Given the description of an element on the screen output the (x, y) to click on. 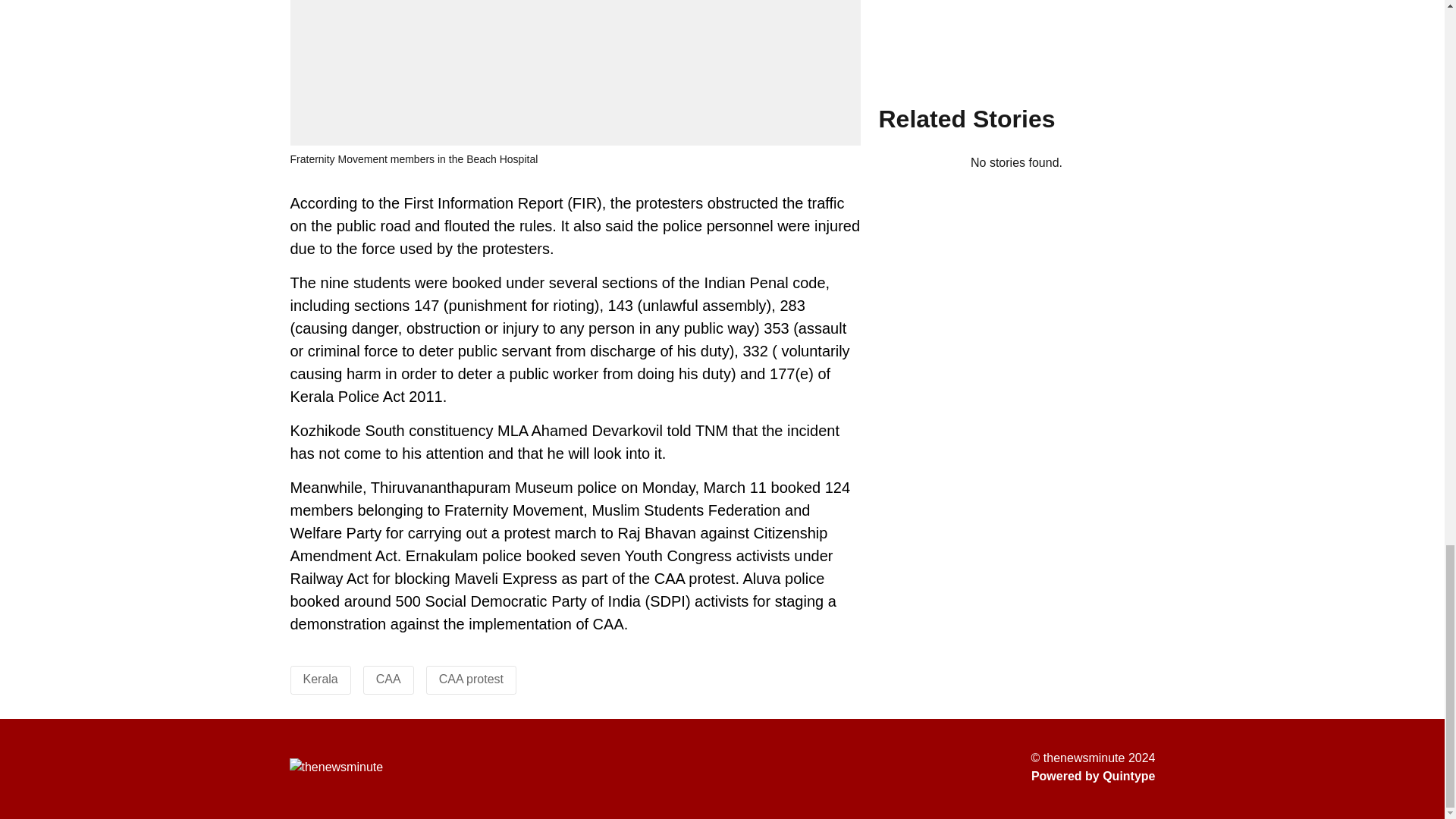
Powered by Quintype (1093, 776)
Kerala (319, 678)
CAA (388, 678)
CAA protest (471, 678)
